Given the description of an element on the screen output the (x, y) to click on. 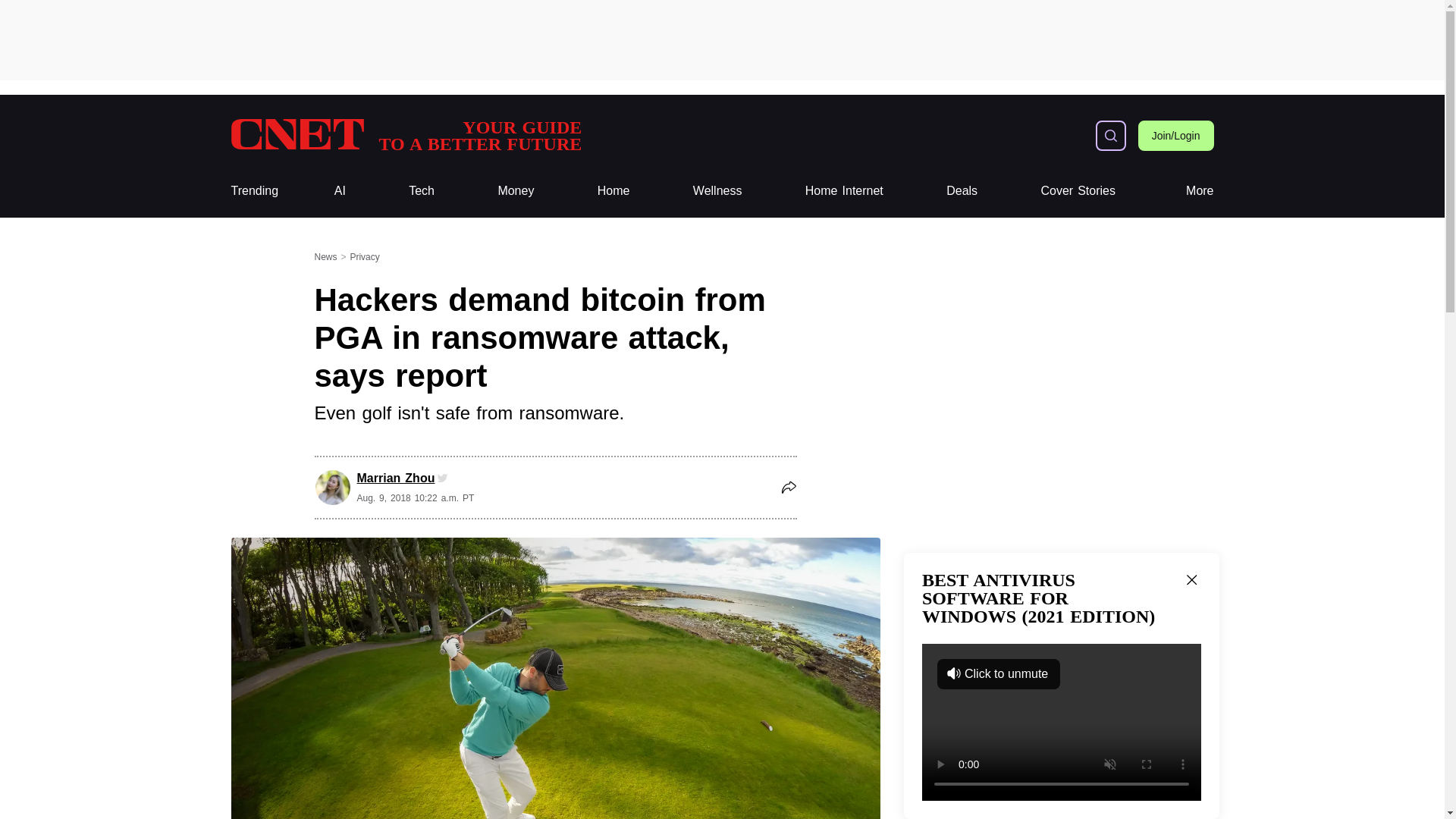
Tech (421, 190)
CNET (405, 135)
Cover Stories (1078, 190)
3rd party ad content (721, 39)
Deals (961, 190)
Home (613, 190)
More (1199, 190)
Money (515, 190)
Wellness (717, 190)
Money (515, 190)
Wellness (717, 190)
Trending (254, 190)
Home Internet (405, 135)
AI (844, 190)
